Given the description of an element on the screen output the (x, y) to click on. 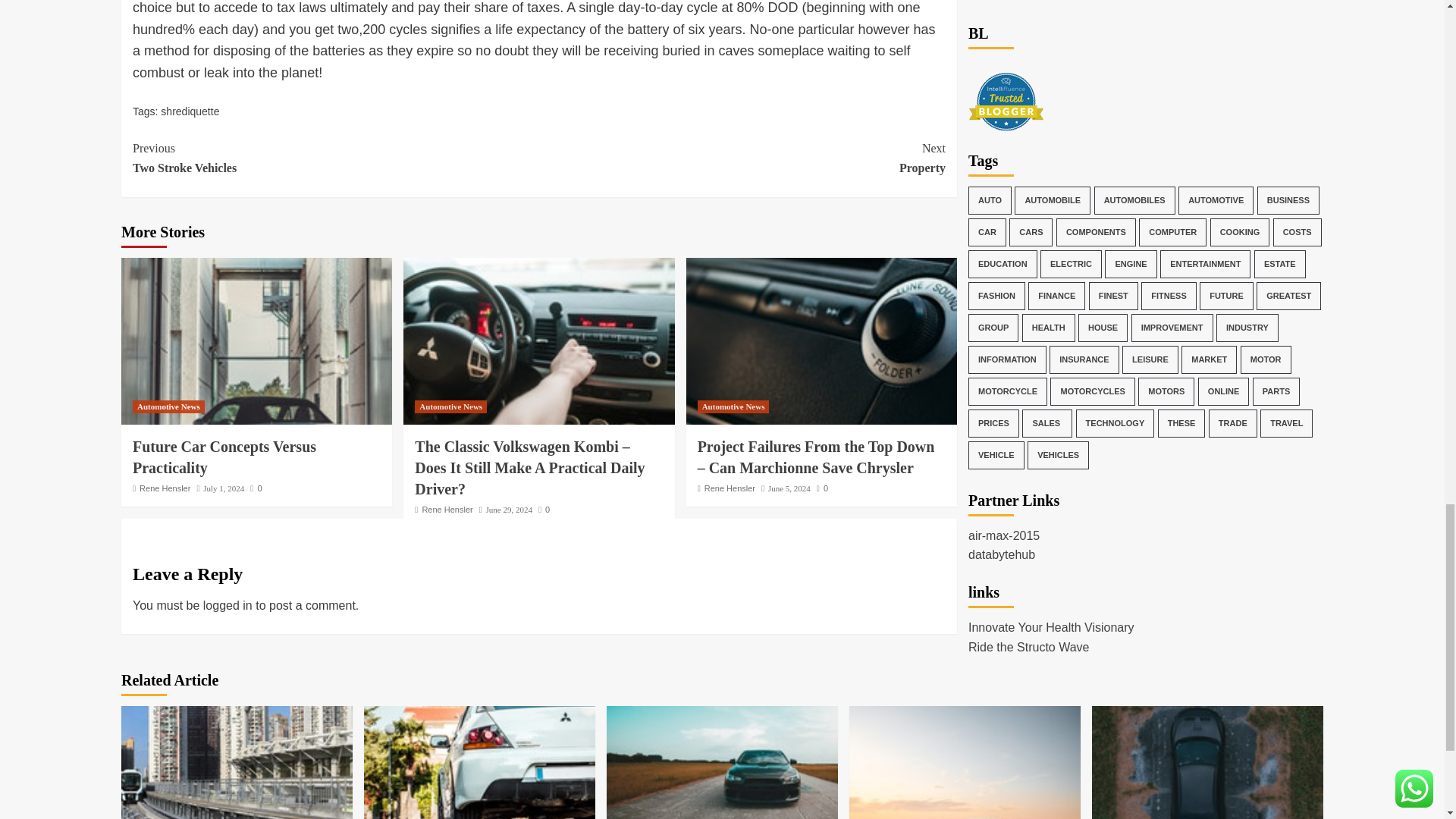
0 (544, 509)
Automotive News (168, 406)
Automotive News (733, 406)
shrediquette (189, 111)
Automotive News (450, 406)
4 Advantages of a Gasoline Powered Car (335, 157)
Future Car Concepts Versus Practicality (236, 762)
Does My Auto Insurance Cover My Rental Car? (223, 456)
0 (722, 762)
June 29, 2024 (256, 488)
Rene Hensler (509, 509)
Rene Hensler (446, 509)
